Given the description of an element on the screen output the (x, y) to click on. 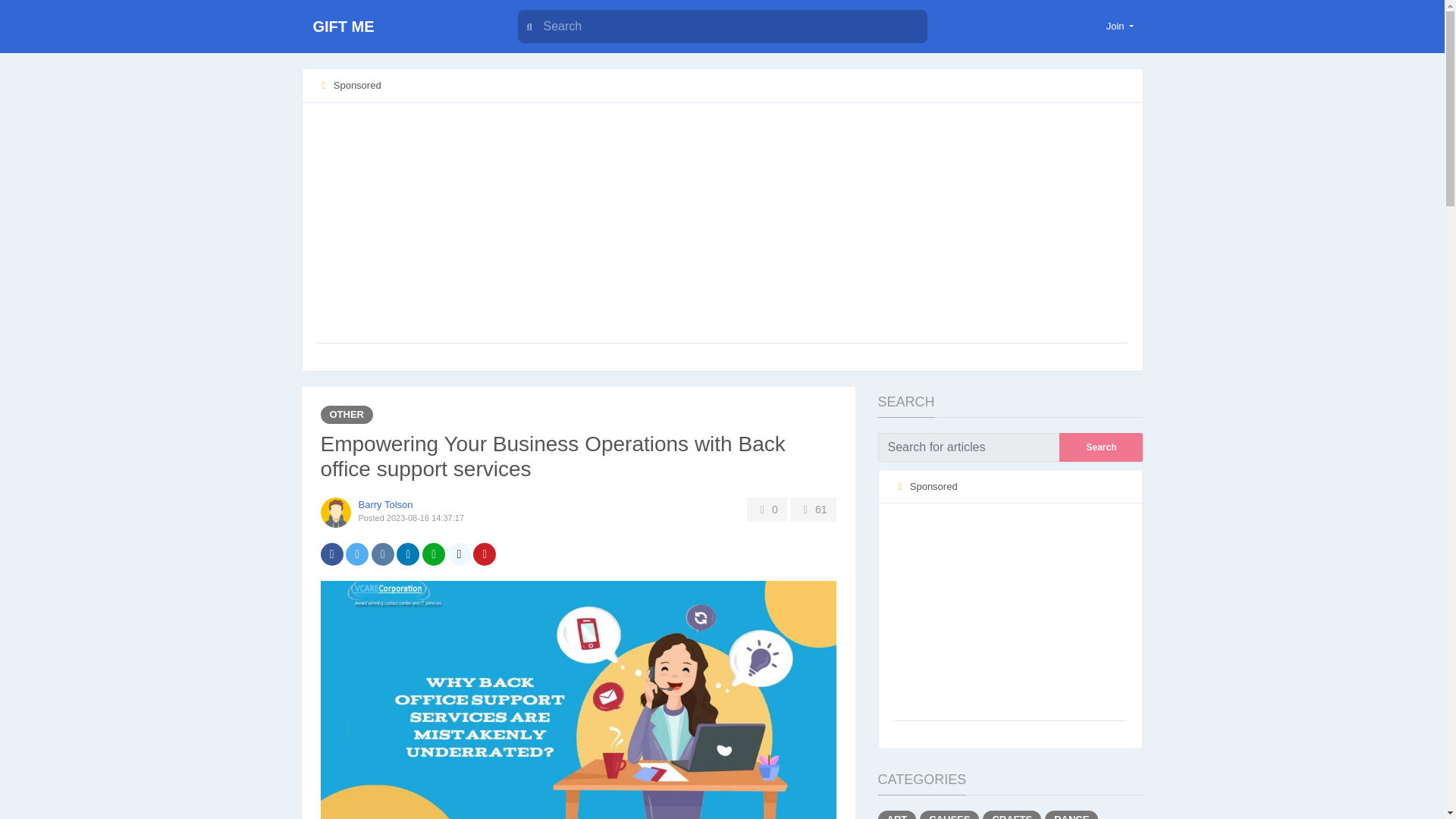
GIFT ME (396, 26)
Barry Tolson (385, 504)
Join (1119, 26)
Advertisement (1009, 613)
0 (766, 509)
OTHER (346, 413)
